Given the description of an element on the screen output the (x, y) to click on. 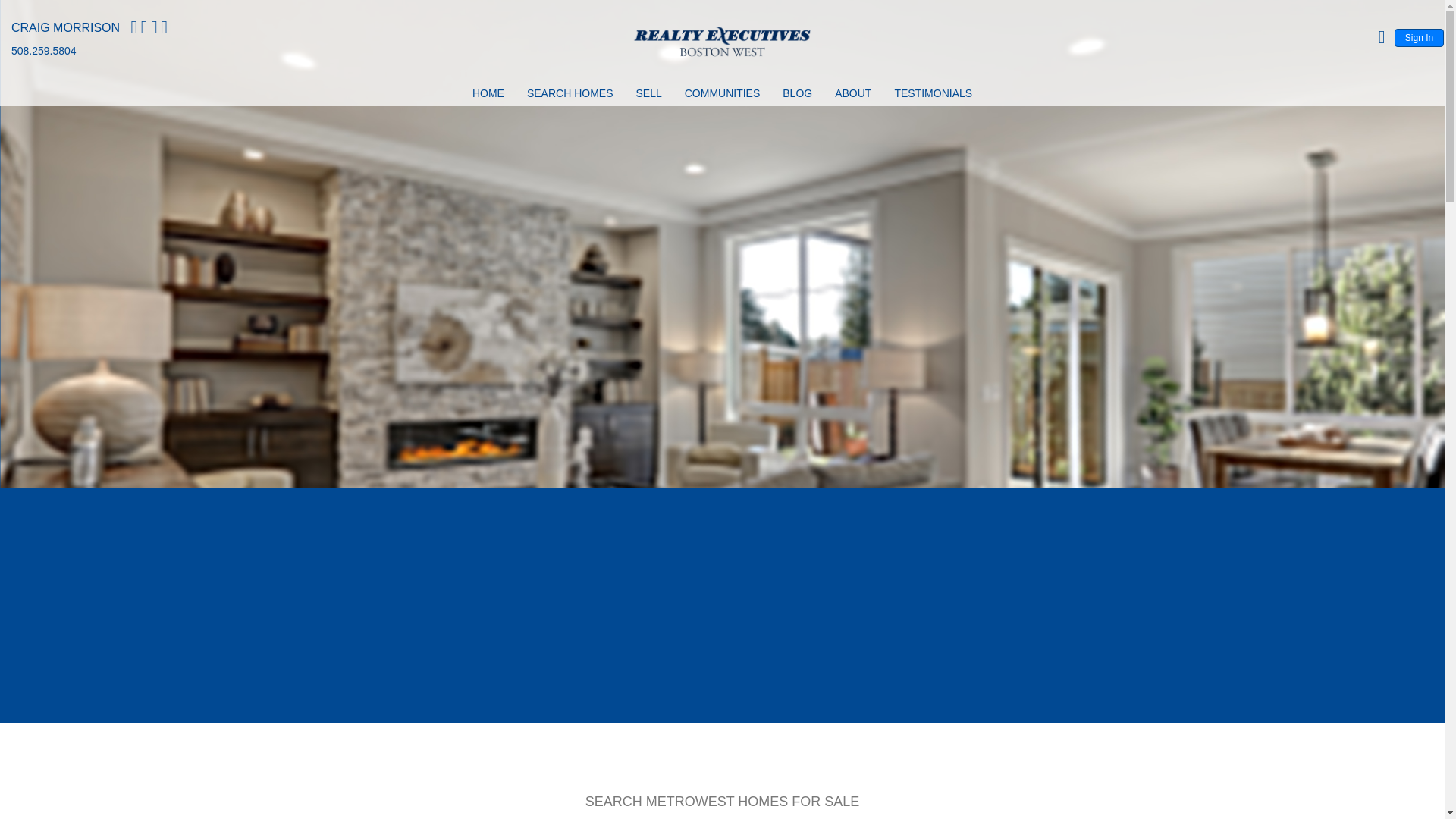
TESTIMONIALS (932, 95)
COMMUNITIES (722, 95)
SELL (648, 95)
508.259.5804 (44, 50)
ABOUT (853, 95)
HOME (488, 95)
SEARCH HOMES (569, 95)
Sign In (1419, 37)
BLOG (796, 95)
